Given the description of an element on the screen output the (x, y) to click on. 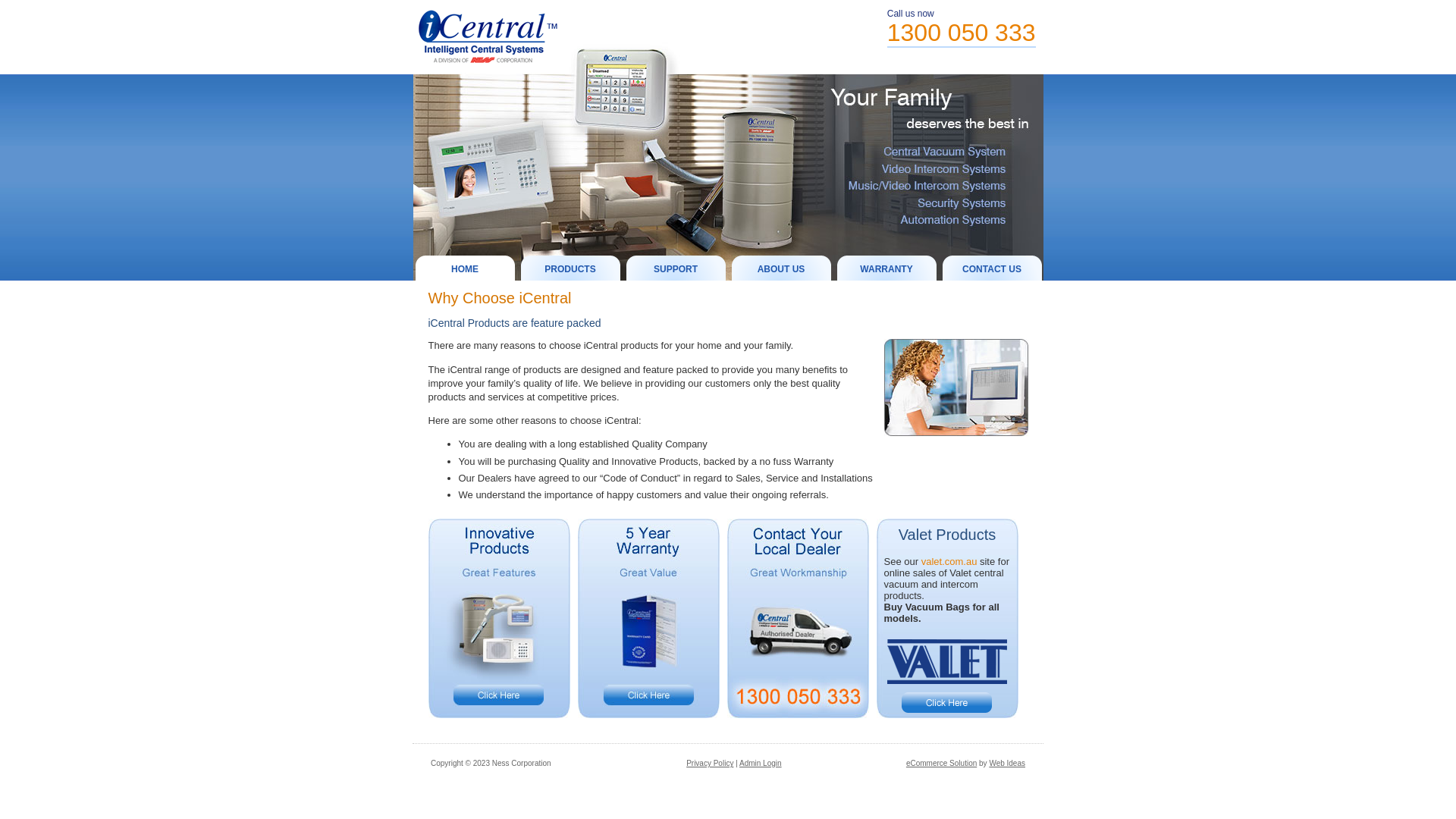
ABOUT US Element type: text (780, 267)
Privacy Policy Element type: text (709, 763)
PRODUCTS Element type: text (569, 267)
SUPPORT Element type: text (675, 267)
Web Ideas Element type: text (1006, 763)
WARRANTY Element type: text (886, 267)
CONTACT US Element type: text (991, 267)
eCommerce Solution Element type: text (941, 763)
Admin Login Element type: text (760, 763)
HOME Element type: text (464, 267)
valet.com.au Element type: text (949, 561)
